Given the description of an element on the screen output the (x, y) to click on. 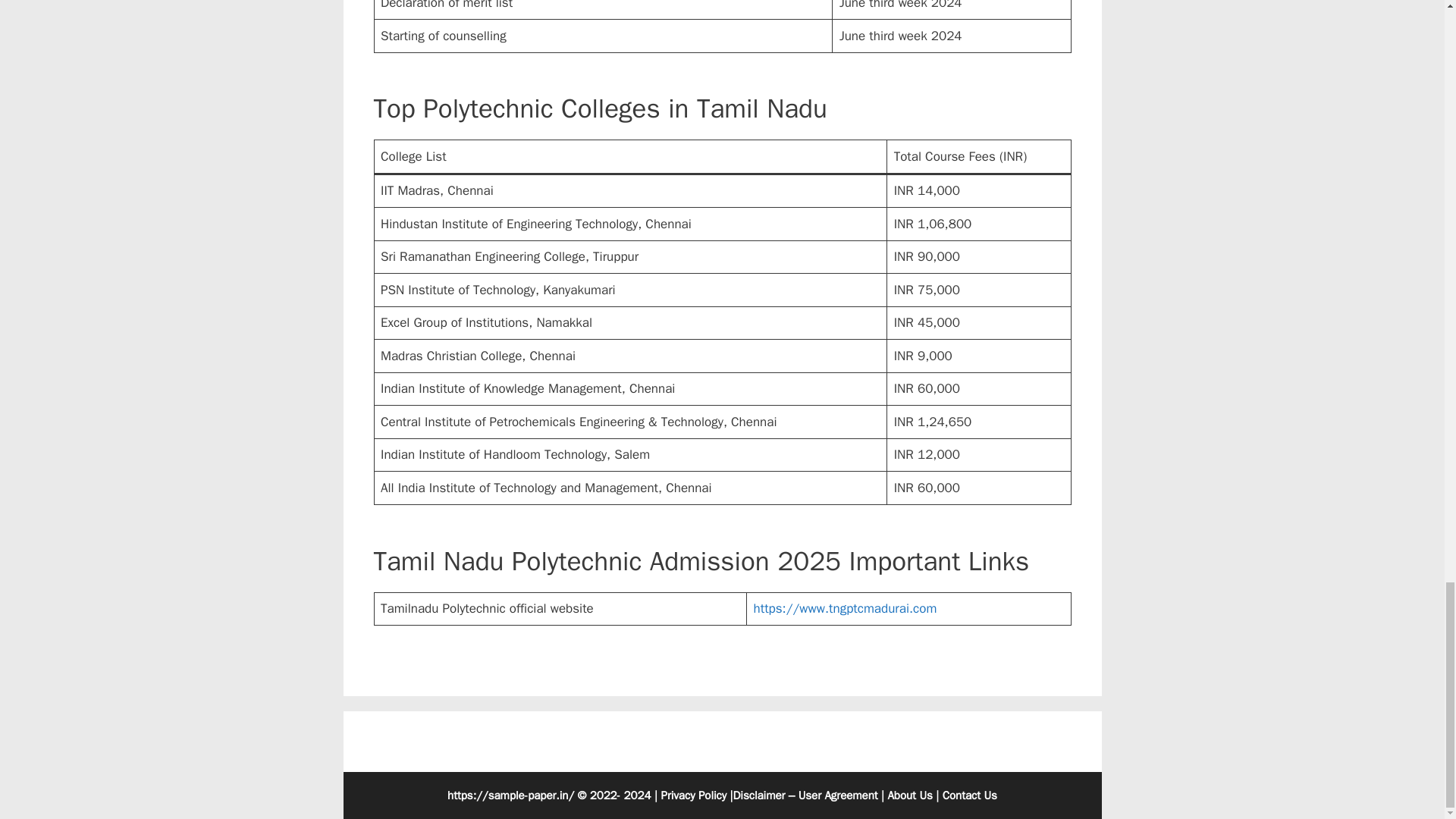
Contact Us (969, 795)
Privacy Policy (693, 795)
About Us (908, 795)
